Given the description of an element on the screen output the (x, y) to click on. 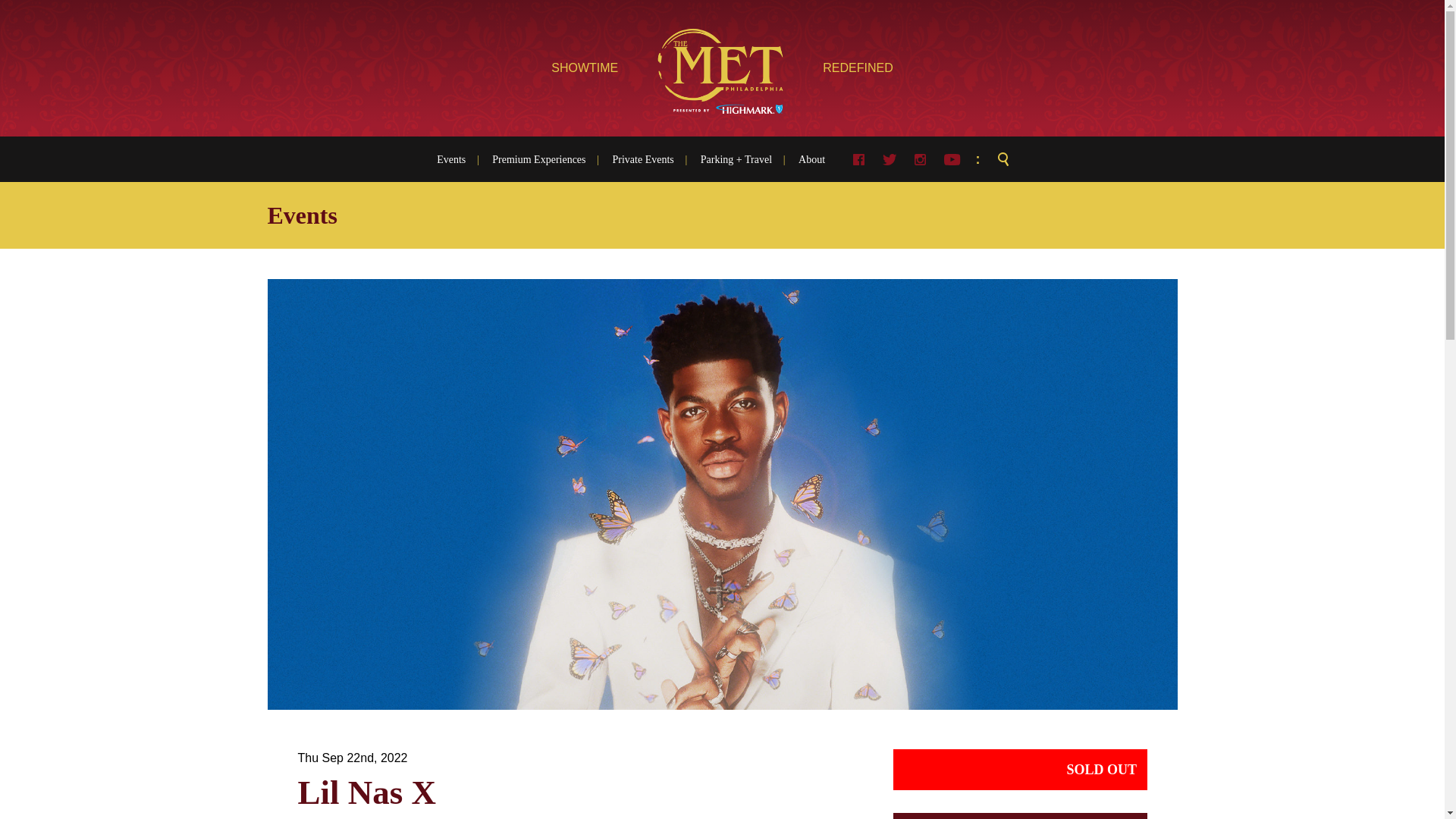
Private Events (642, 158)
Premium Experiences (538, 158)
SOLD OUT (1020, 769)
About (805, 158)
Events (457, 158)
